Given the description of an element on the screen output the (x, y) to click on. 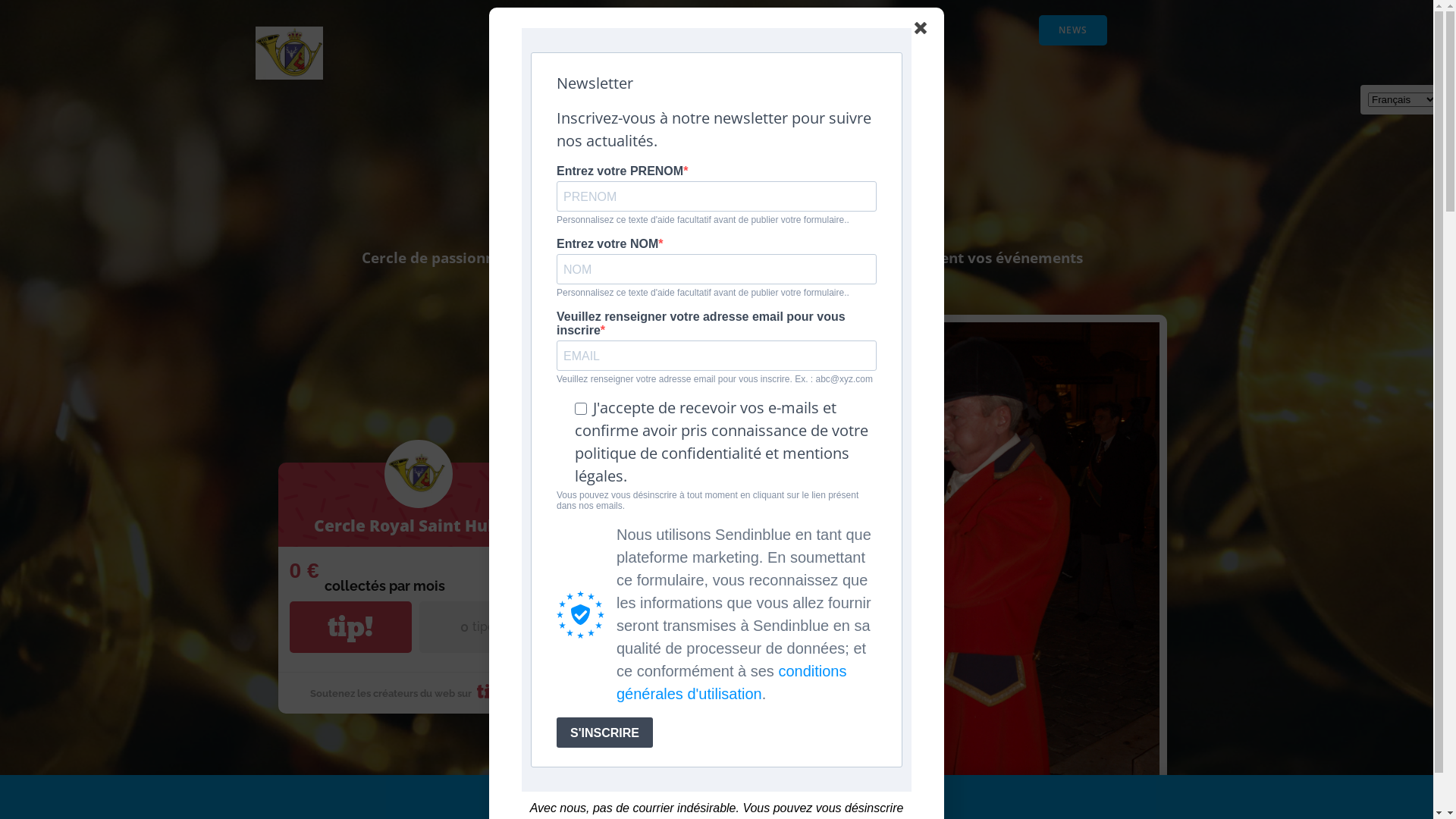
Ignorer Element type: text (863, 795)
MEMBRES Element type: text (839, 30)
BOUTIQUE Element type: text (839, 75)
tip! Element type: text (350, 626)
NEWS Element type: text (1072, 30)
S'INSCRIRE Element type: text (604, 732)
